Given the description of an element on the screen output the (x, y) to click on. 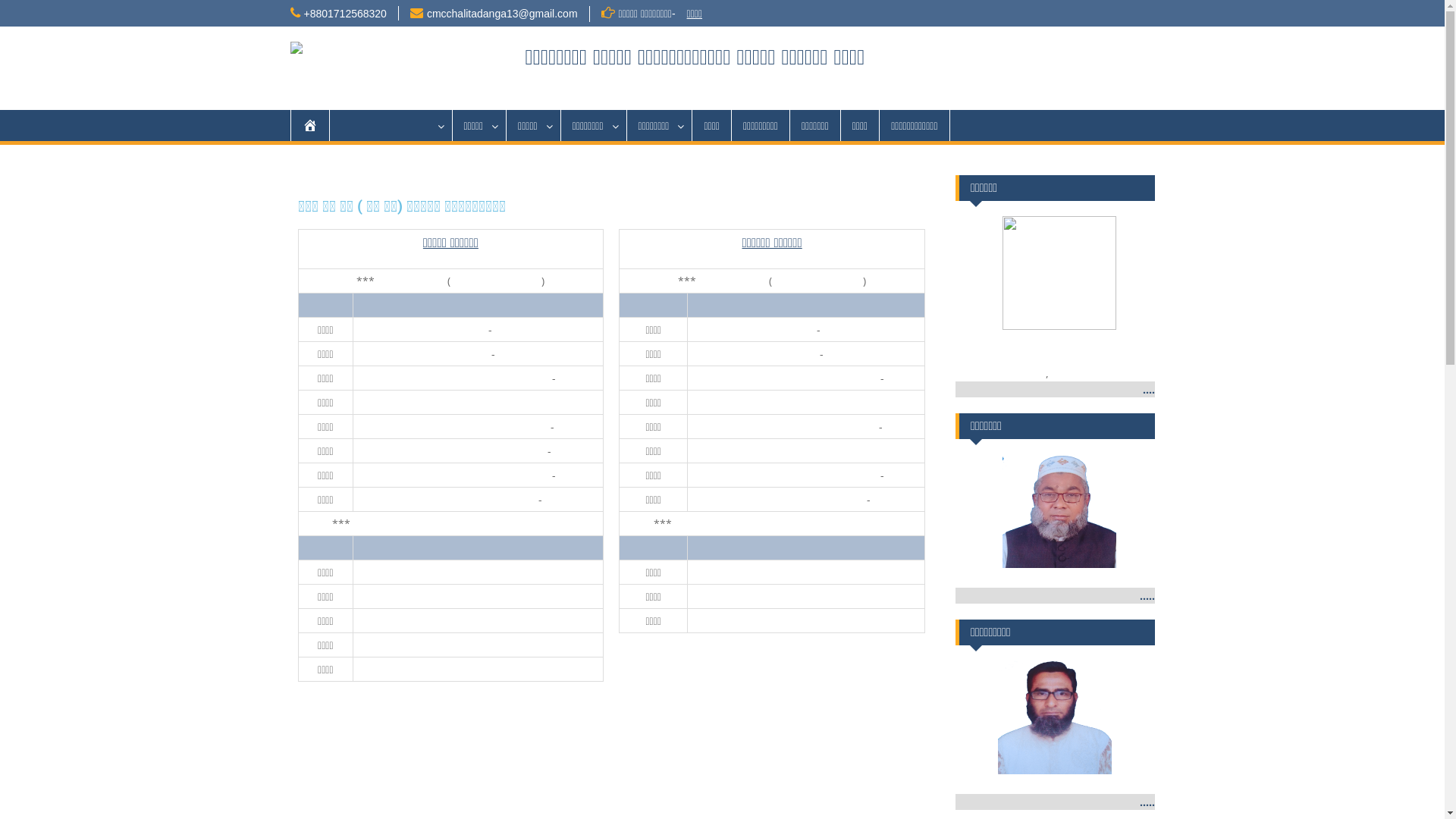
cmcchalitadanga13@gmail.com Element type: text (501, 13)
+8801712568320 Element type: text (344, 13)
